Given the description of an element on the screen output the (x, y) to click on. 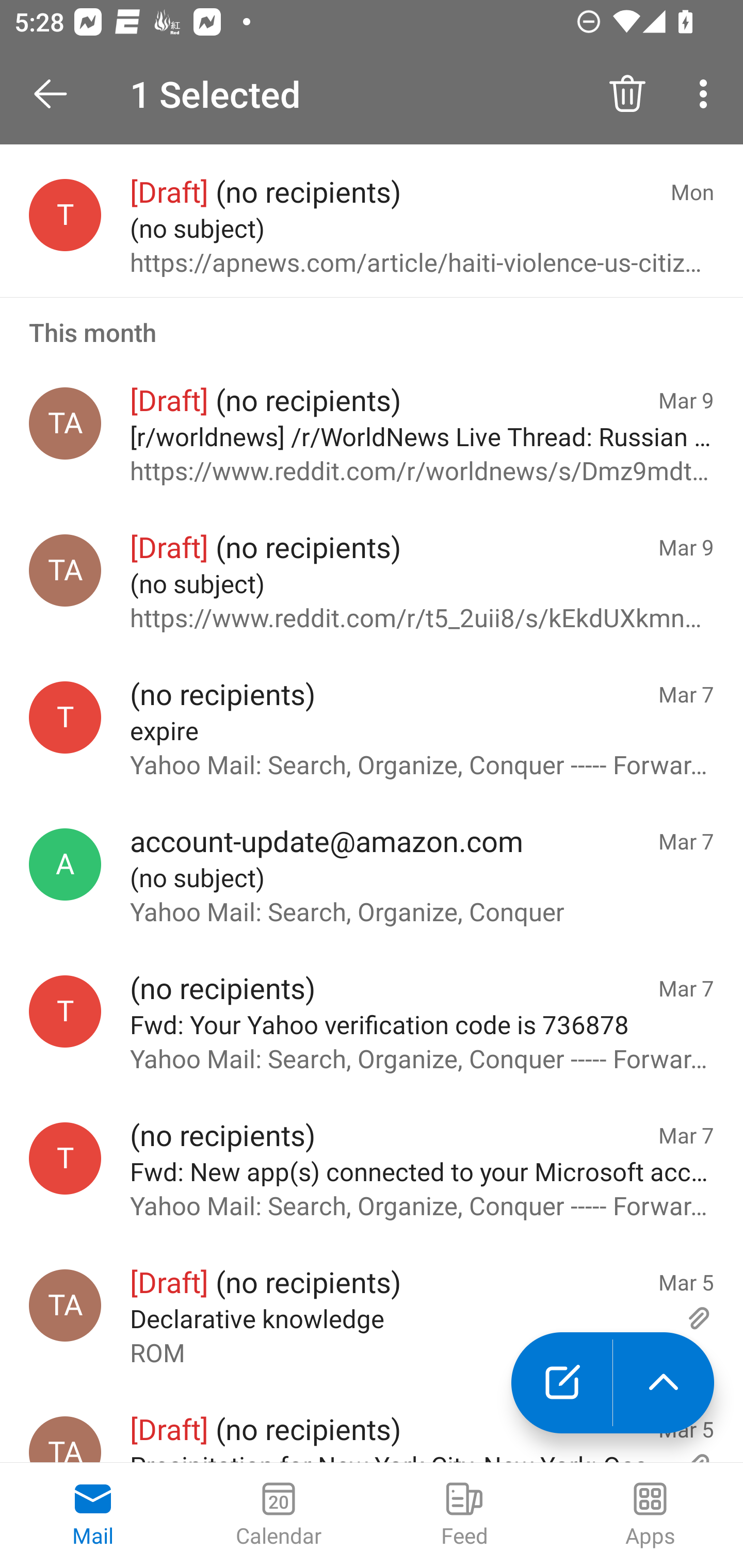
Delete (626, 93)
More options (706, 93)
Open Navigation Drawer (57, 94)
testappium002@outlook.com (64, 214)
Test Appium, testappium002@outlook.com (64, 423)
Test Appium, testappium002@outlook.com (64, 570)
testappium002@outlook.com (64, 718)
testappium002@outlook.com (64, 1011)
testappium002@outlook.com (64, 1158)
Test Appium, testappium002@outlook.com (64, 1306)
New mail (561, 1382)
launch the extended action menu (663, 1382)
Test Appium, testappium002@outlook.com (64, 1438)
Calendar (278, 1515)
Feed (464, 1515)
Apps (650, 1515)
